Given the description of an element on the screen output the (x, y) to click on. 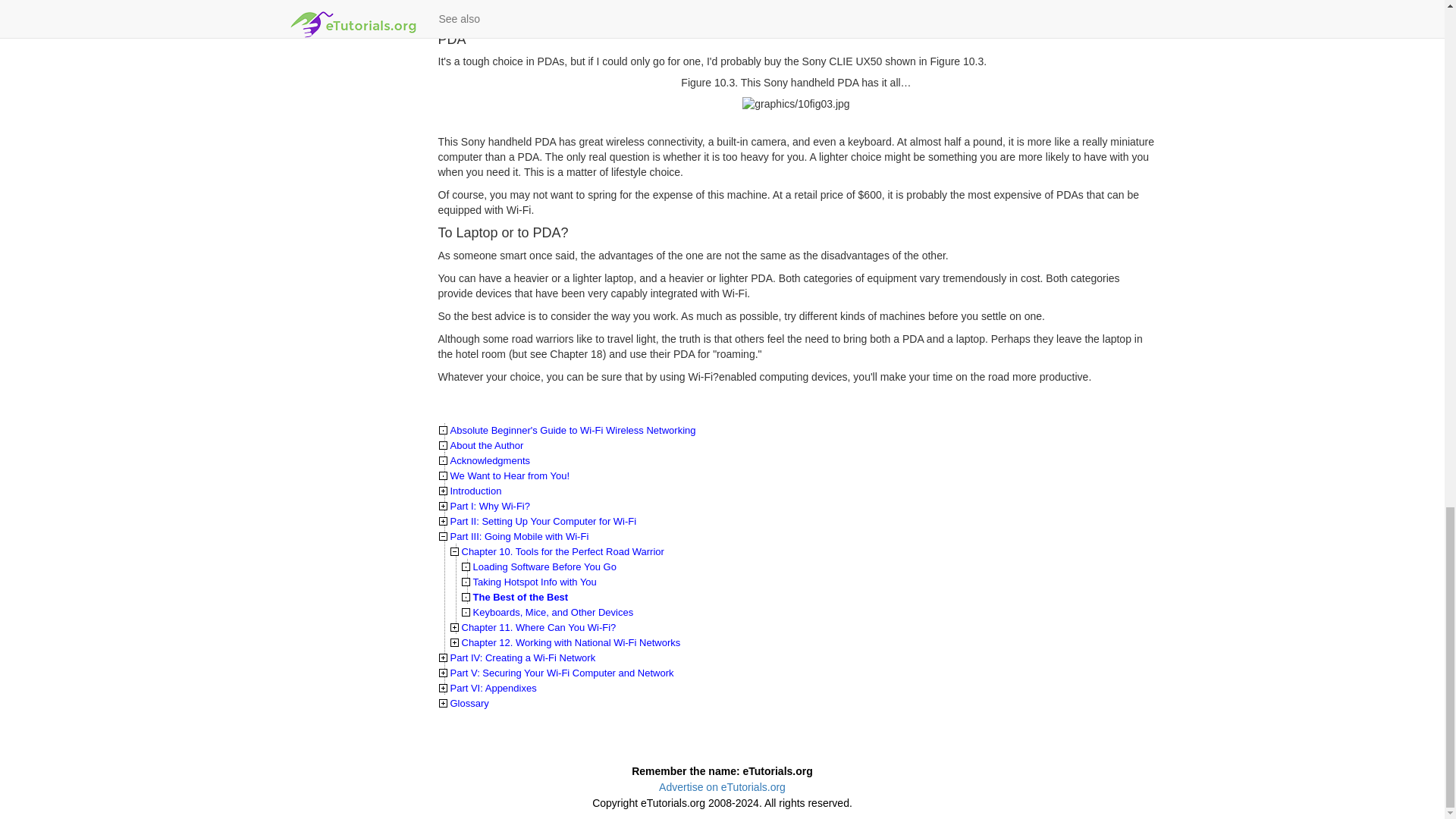
Introduction (475, 490)
Part II: Setting Up Your Computer for Wi-Fi (543, 521)
About the Author (486, 445)
Absolute Beginner's Guide to Wi-Fi Wireless Networking (572, 430)
Acknowledgments (490, 460)
Part I: Why Wi-Fi? (489, 505)
We Want to Hear from You! (509, 475)
